Given the description of an element on the screen output the (x, y) to click on. 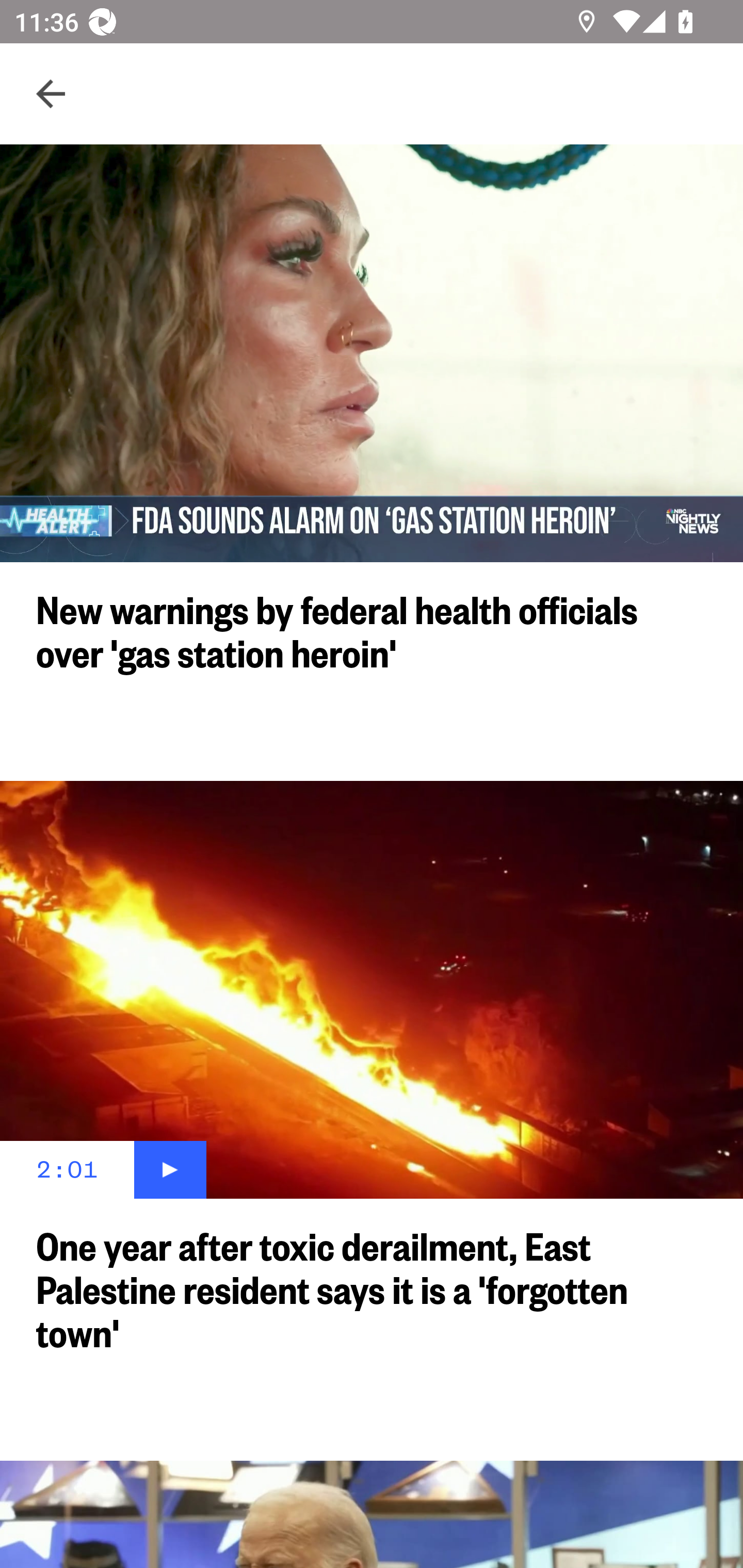
Navigate up (50, 93)
